Given the description of an element on the screen output the (x, y) to click on. 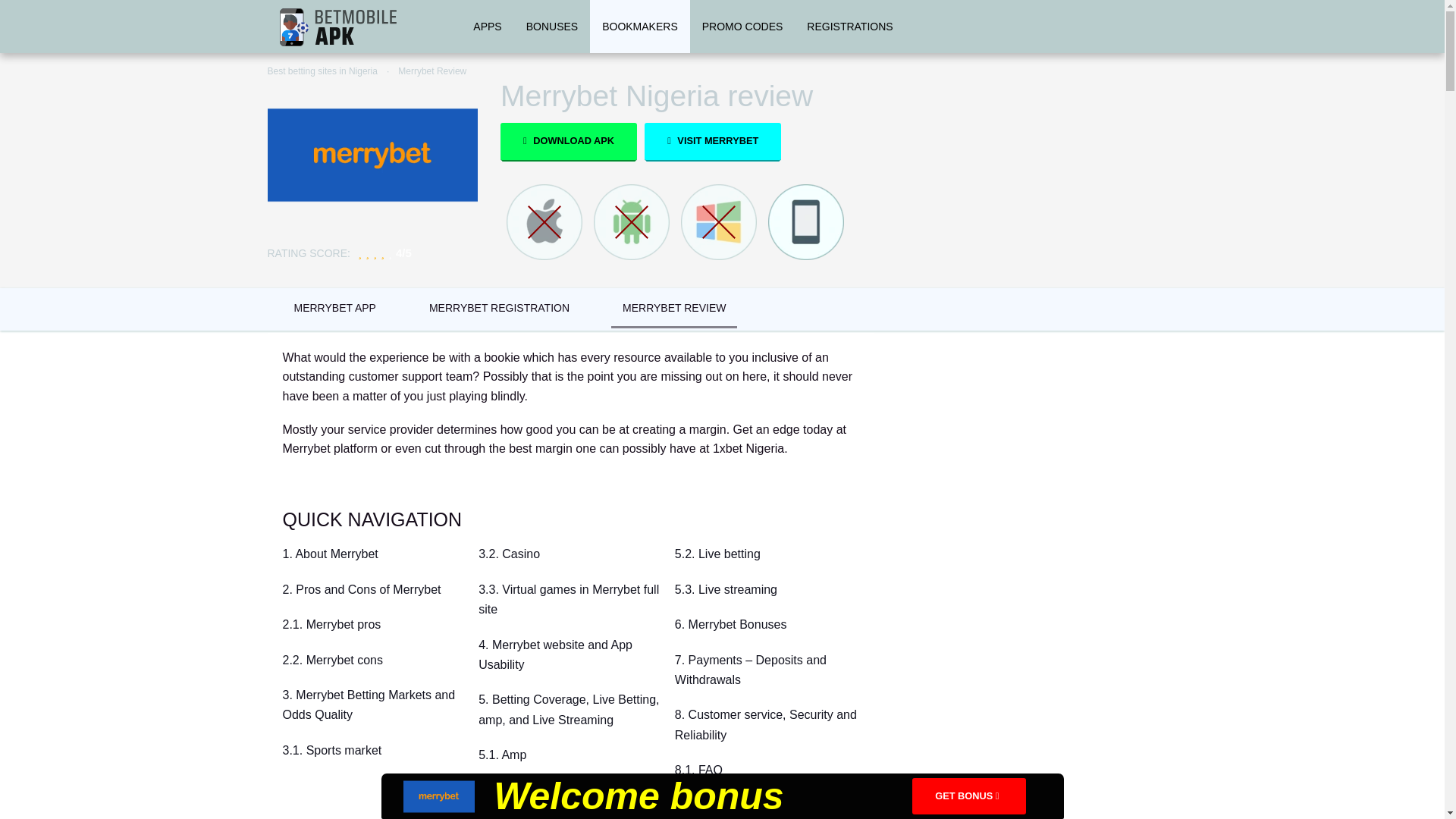
MERRYBET APP (334, 307)
Pros and Cons of Merrybet (373, 589)
MERRYBET REGISTRATION (498, 307)
Best betting sites in Nigeria (321, 71)
About Merrybet (373, 554)
